Given the description of an element on the screen output the (x, y) to click on. 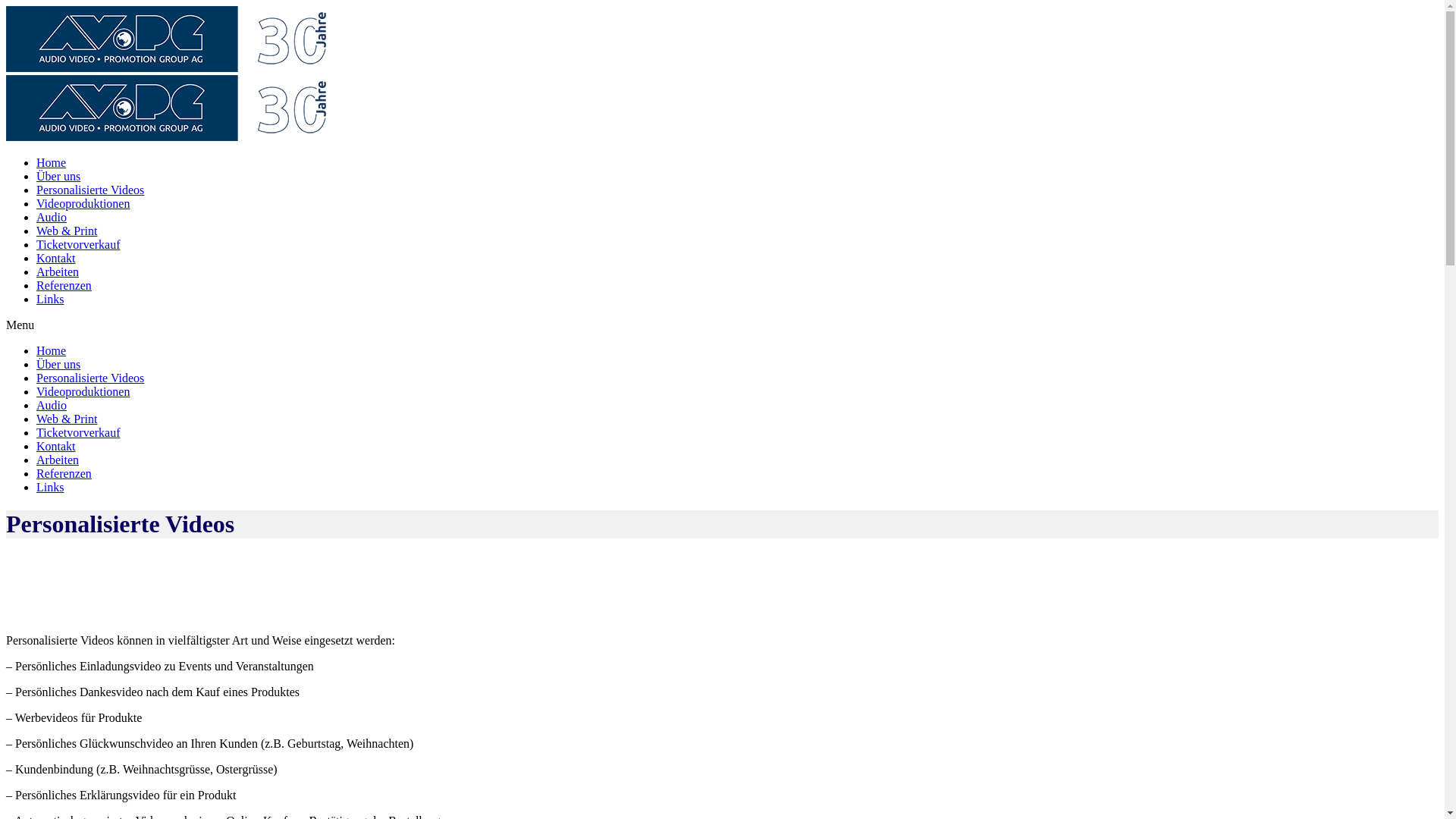
Videoproduktionen Element type: text (82, 391)
Links Element type: text (49, 298)
Web & Print Element type: text (66, 418)
Ticketvorverkauf Element type: text (78, 244)
Arbeiten Element type: text (57, 271)
Personalisierte Videos Element type: text (90, 189)
Kontakt Element type: text (55, 445)
Home Element type: text (50, 350)
Audio Element type: text (51, 216)
Links Element type: text (49, 486)
Kontakt Element type: text (55, 257)
Arbeiten Element type: text (57, 459)
Personalisierte Videos Element type: text (90, 377)
Videoproduktionen Element type: text (82, 203)
Web & Print Element type: text (66, 230)
Referenzen Element type: text (63, 285)
Referenzen Element type: text (63, 473)
Ticketvorverkauf Element type: text (78, 432)
Home Element type: text (50, 162)
Audio Element type: text (51, 404)
